Given the description of an element on the screen output the (x, y) to click on. 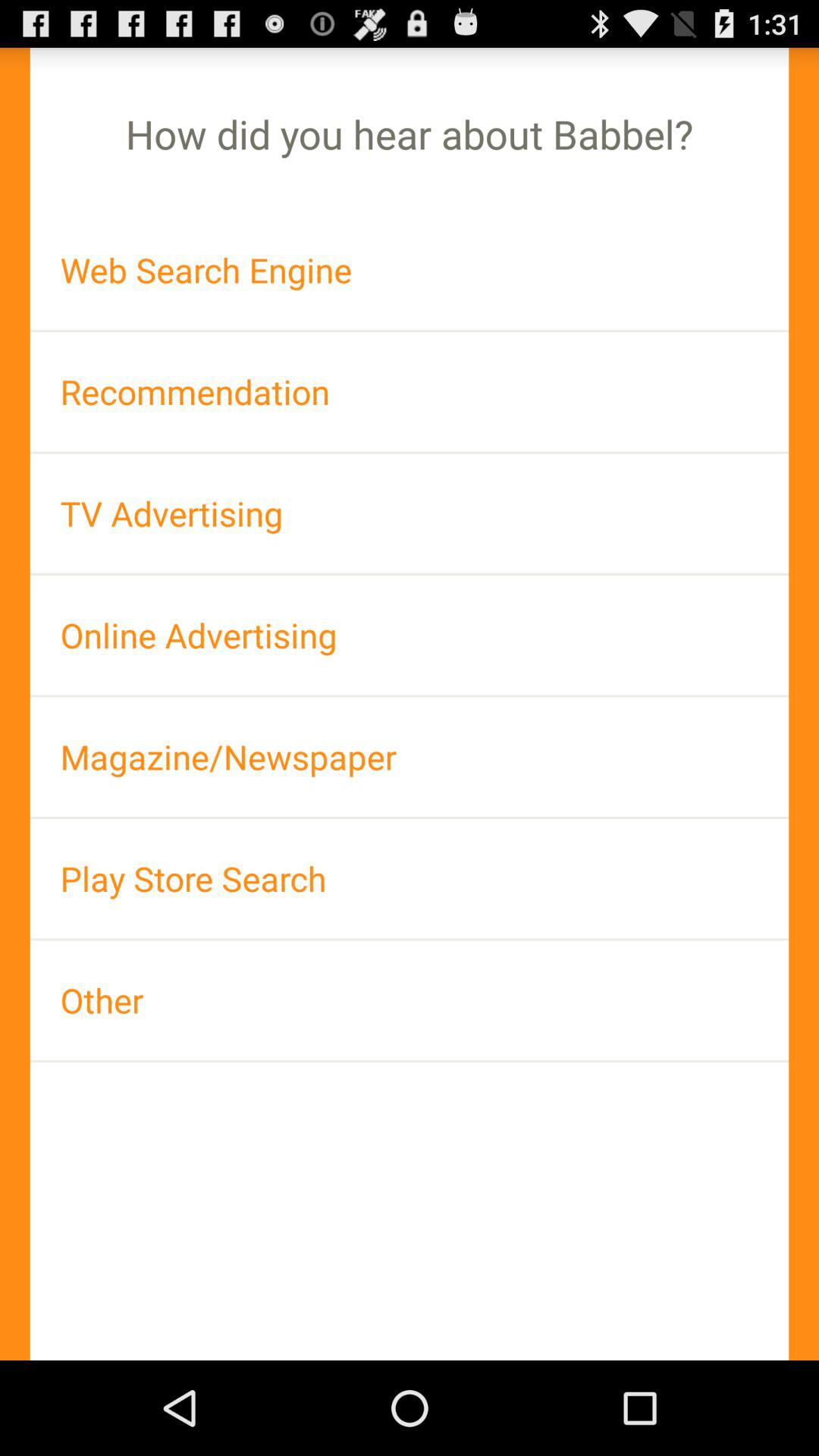
scroll until the other (409, 1000)
